Given the description of an element on the screen output the (x, y) to click on. 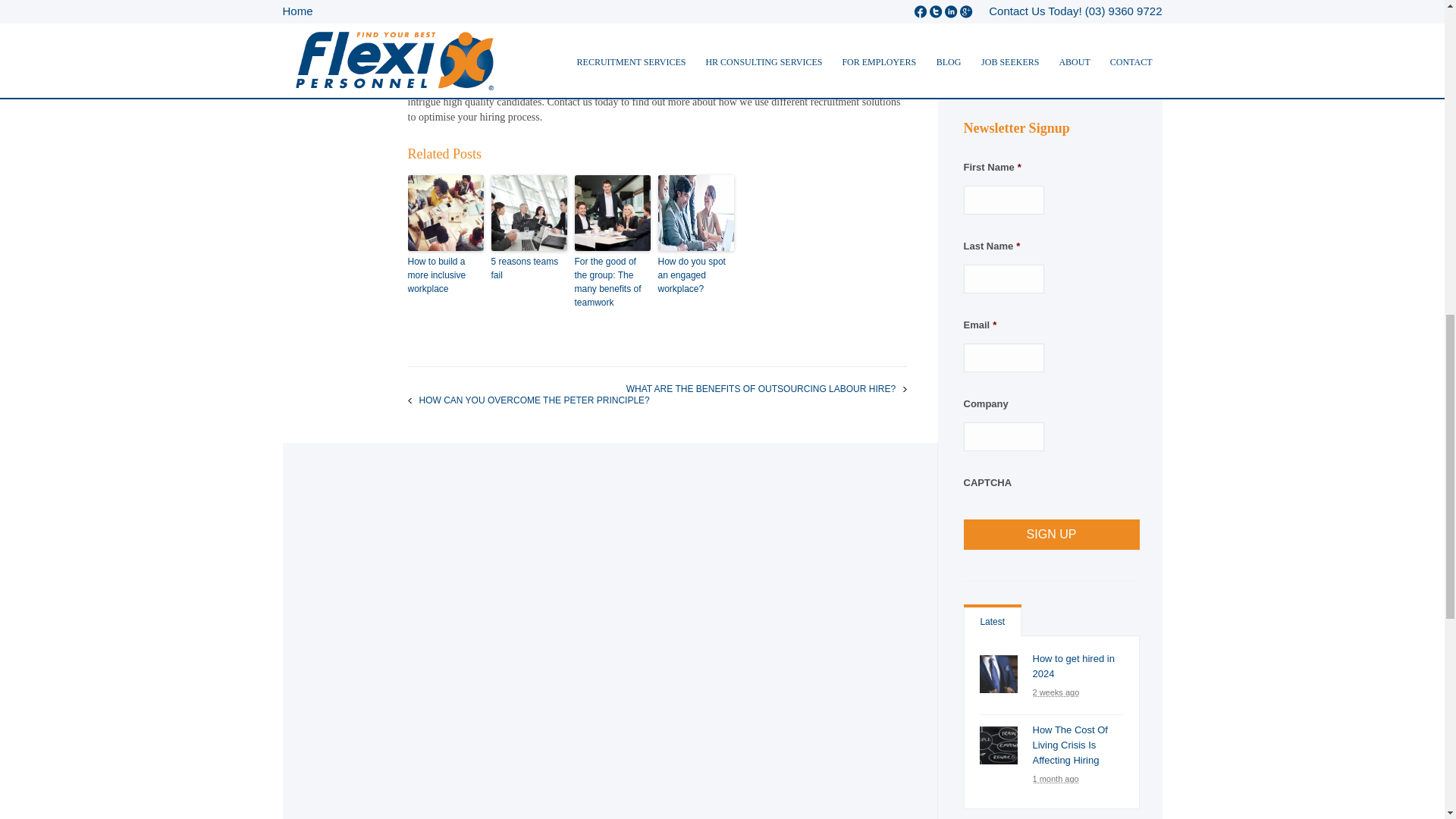
How The Cost Of Living Crisis Is Affecting Hiring (998, 745)
13-06-2024 (1055, 778)
Sign Up (1050, 534)
How The Cost Of Living Crisis Is Affecting Hiring (1070, 744)
How to get hired in 2024 (1073, 665)
12-07-2024 (1056, 692)
How to get hired in 2024 (998, 673)
